Given the description of an element on the screen output the (x, y) to click on. 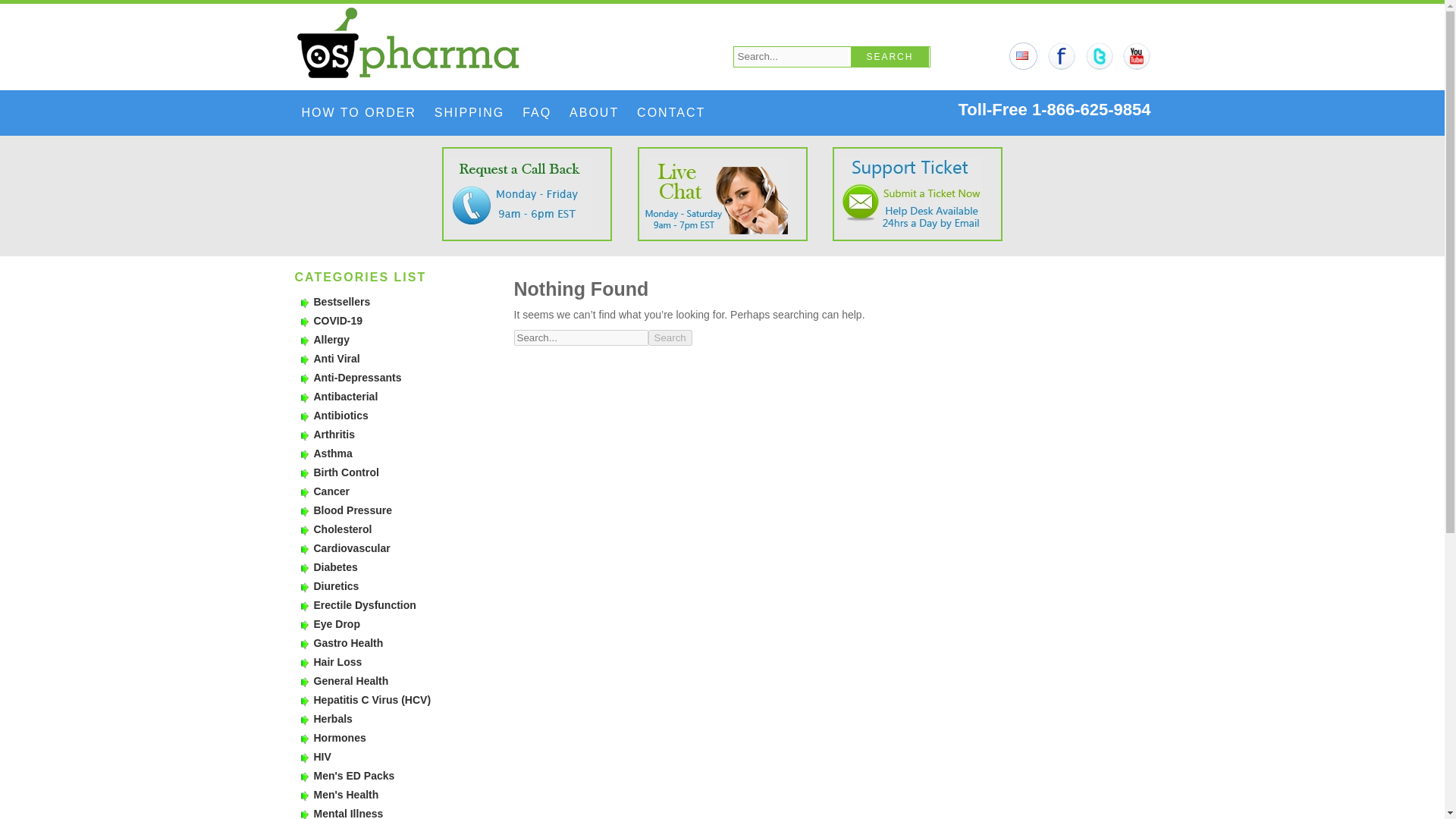
Anti-Depressants (357, 377)
Asthma (333, 453)
COVID-19 (338, 320)
Anti Viral (336, 358)
Blood Pressure (352, 510)
CONTACT (670, 112)
Bestsellers (342, 301)
Allergy (331, 339)
FAQ (537, 112)
Antibacterial (346, 396)
SEARCH (890, 56)
Cholesterol (343, 529)
Arthritis (334, 434)
HOW TO ORDER (358, 112)
SHIPPING (469, 112)
